Given the description of an element on the screen output the (x, y) to click on. 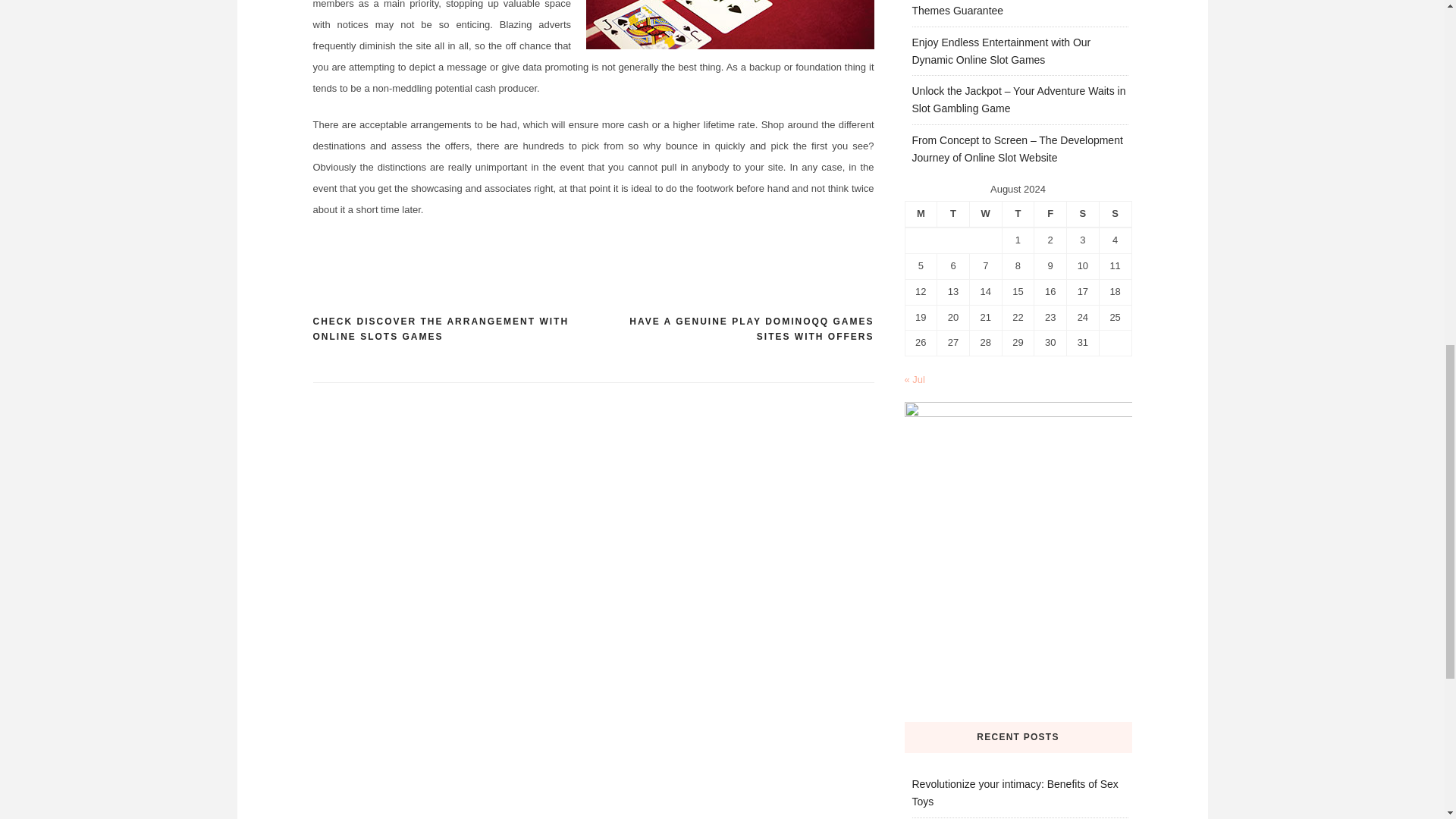
CHECK DISCOVER THE ARRANGEMENT WITH ONLINE SLOTS GAMES (452, 328)
Saturday (1083, 214)
Monday (920, 214)
Sunday (1115, 214)
Thursday (1017, 214)
Revolutionize your intimacy: Benefits of Sex Toys (1014, 792)
Wednesday (985, 214)
HAVE A GENUINE PLAY DOMINOQQ GAMES SITES WITH OFFERS (732, 328)
Tuesday (953, 214)
The Influence of Pop Culture on Online Slot Themes Guarantee (1013, 8)
Friday (1050, 214)
